Given the description of an element on the screen output the (x, y) to click on. 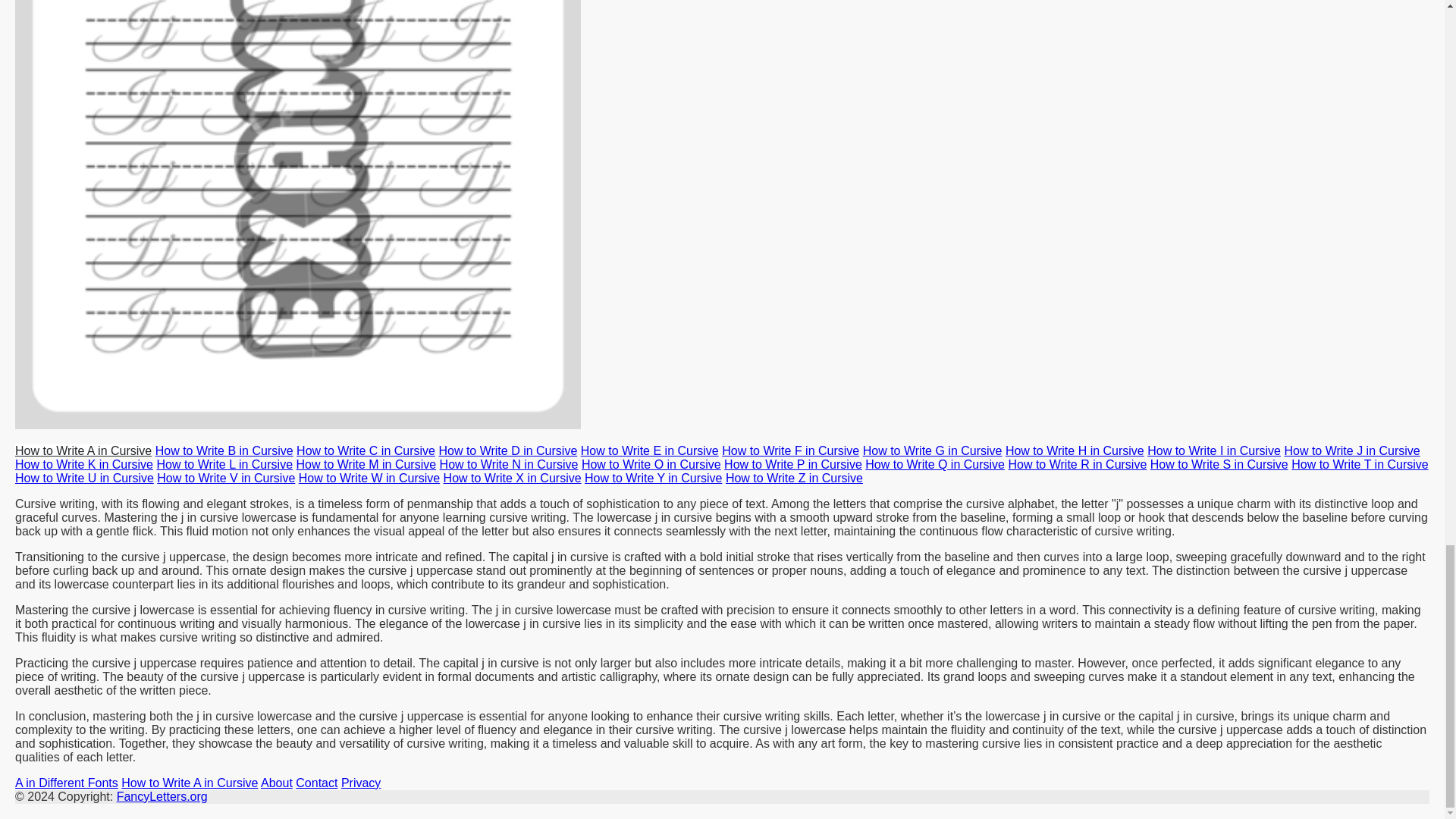
How to Write P in Cursive (792, 463)
How to Write Y in Cursive (653, 477)
How to Write I in Cursive (1214, 450)
How to Write T in Cursive (1359, 463)
How to Write D in Cursive (507, 450)
How to Write N in Cursive (508, 463)
How to Write C in Cursive (366, 450)
How to Write K in Cursive (83, 463)
How to Write F in Cursive (790, 450)
How to Write X in Cursive (512, 477)
How to Write W in Cursive (368, 477)
How to Write M in Cursive (365, 463)
How to Write R in Cursive (1077, 463)
How to Write V in Cursive (226, 477)
How to Write O in Cursive (650, 463)
